Given the description of an element on the screen output the (x, y) to click on. 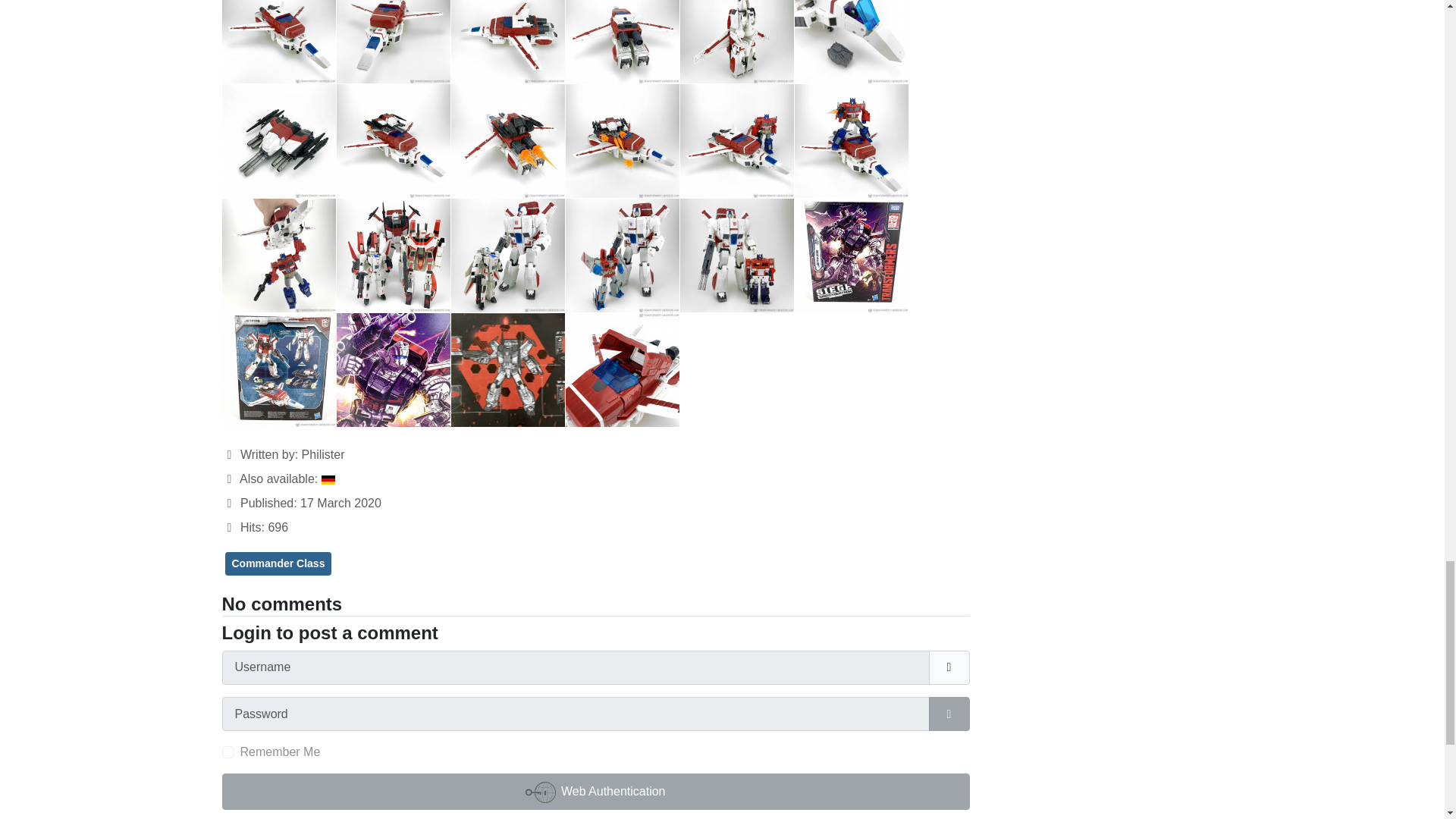
yes (226, 752)
